Given the description of an element on the screen output the (x, y) to click on. 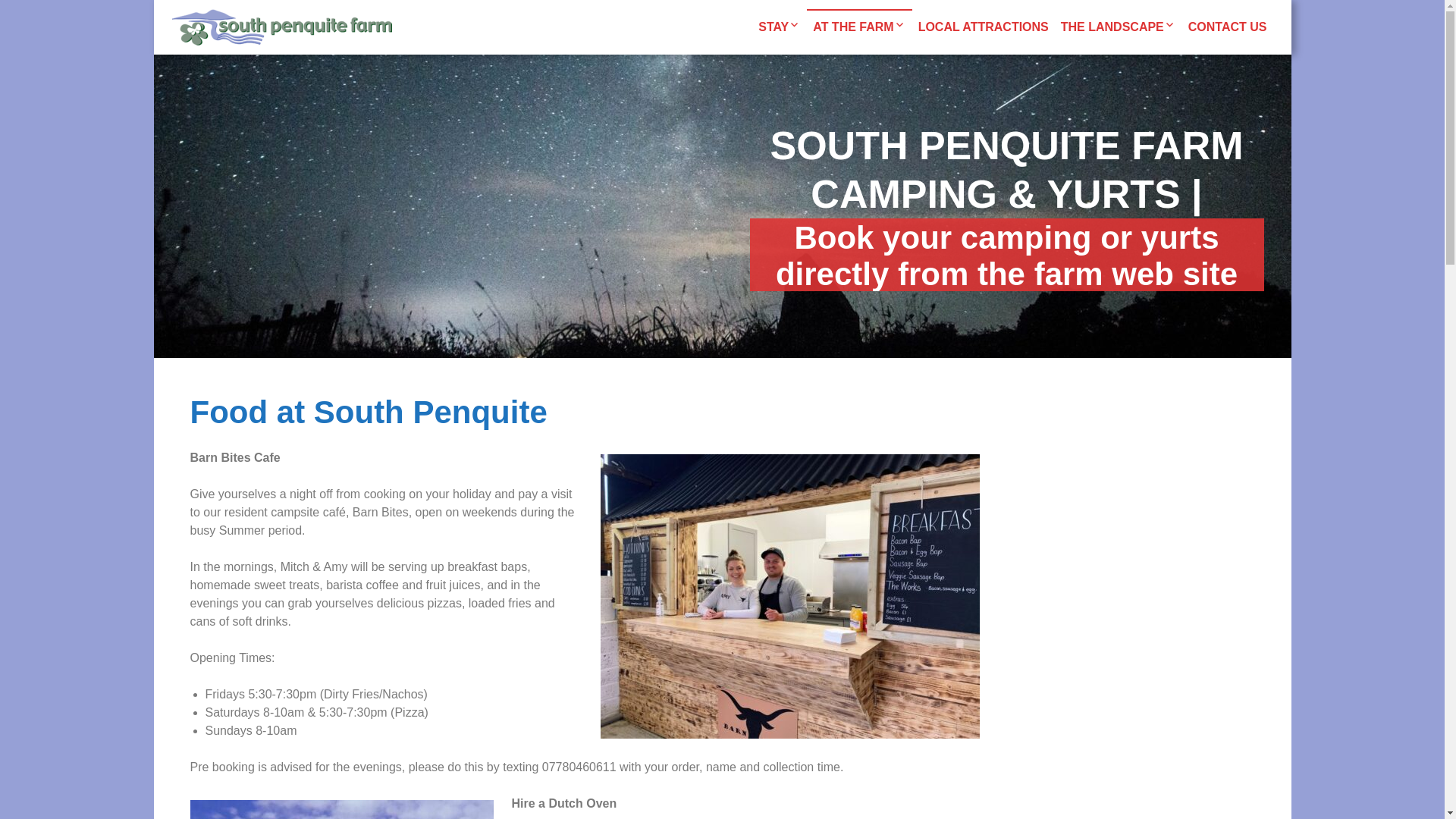
Yurts (874, 75)
AT THE FARM (858, 27)
LOCAL ATTRACTIONS (983, 27)
STAY (779, 27)
Food (929, 75)
Bodmin Moor (1177, 75)
THE LANDSCAPE (1118, 27)
CONTACT US (1227, 27)
